Given the description of an element on the screen output the (x, y) to click on. 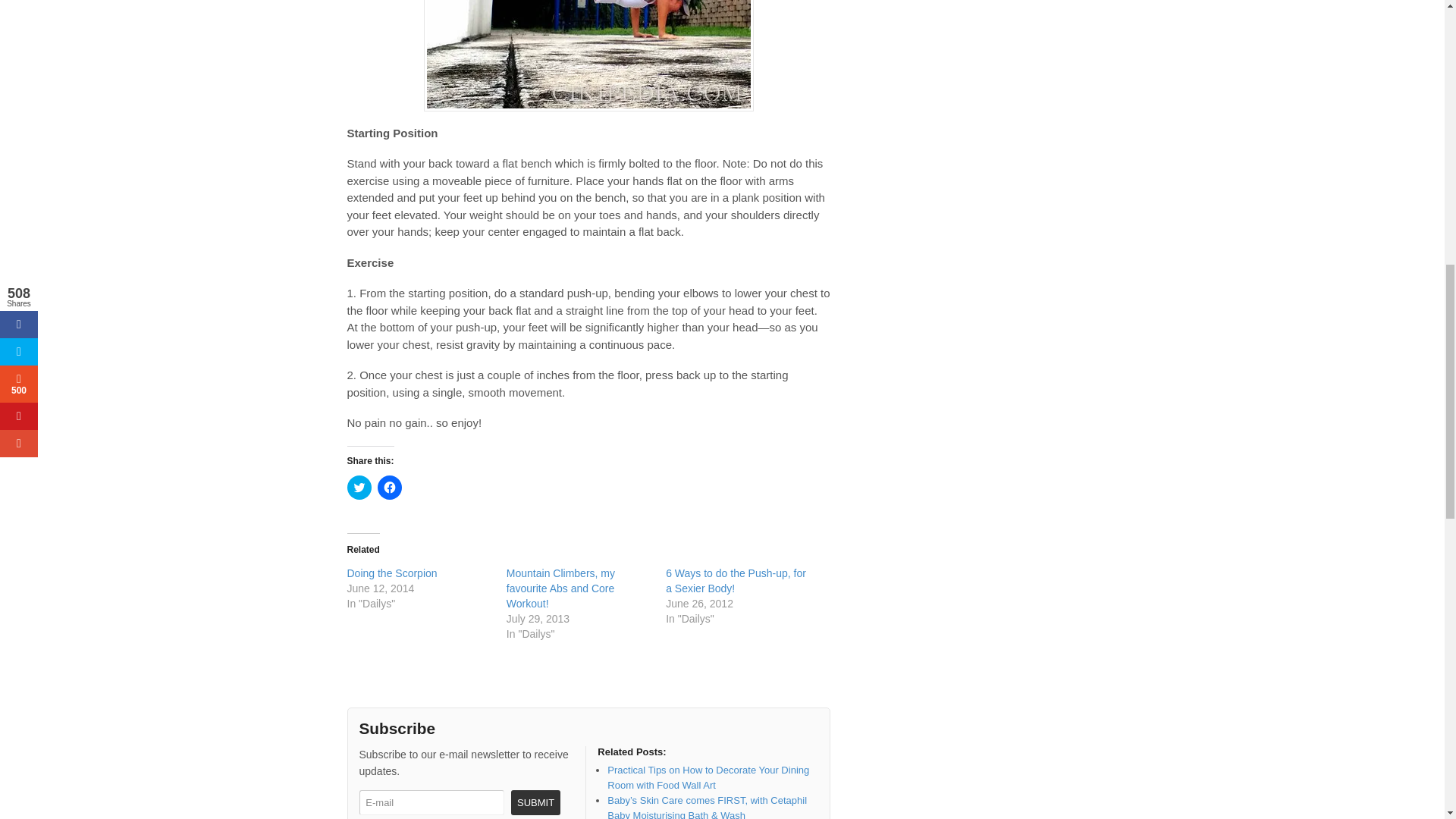
E-mail (432, 802)
Click to share on Facebook (389, 487)
Doing the Scorpion (392, 573)
Click to share on Twitter (359, 487)
6 Ways to do the Push-up, for a Sexier Body! (735, 580)
Mountain Climbers, my favourite Abs and Core Workout! (560, 588)
Submit (535, 802)
